Given the description of an element on the screen output the (x, y) to click on. 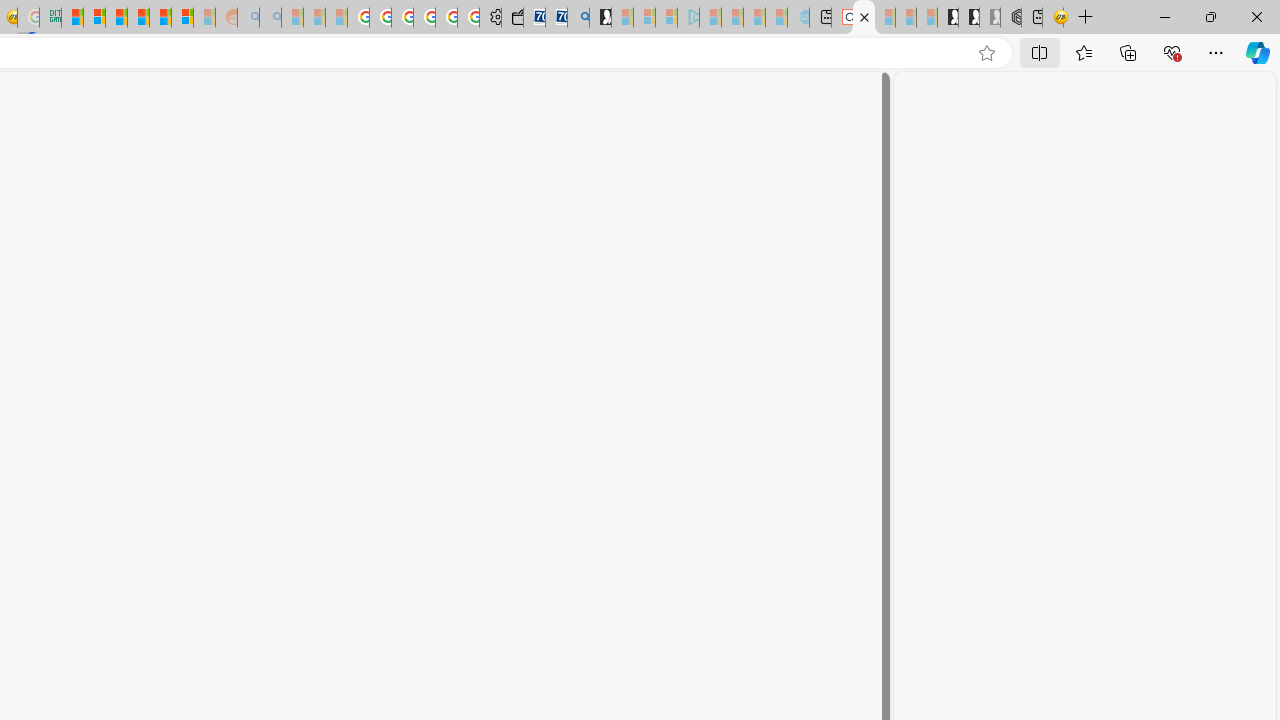
Settings (863, 17)
Close tab (864, 16)
Play Free Online Games | Games from Microsoft Start (947, 17)
Kinda Frugal - MSN (160, 17)
Expert Portfolios (138, 17)
MSNBC - MSN (72, 17)
Copilot (Ctrl+Shift+.) (1258, 52)
Settings and more (Alt+F) (1215, 52)
Wallet (512, 17)
Split screen (1039, 52)
